Given the description of an element on the screen output the (x, y) to click on. 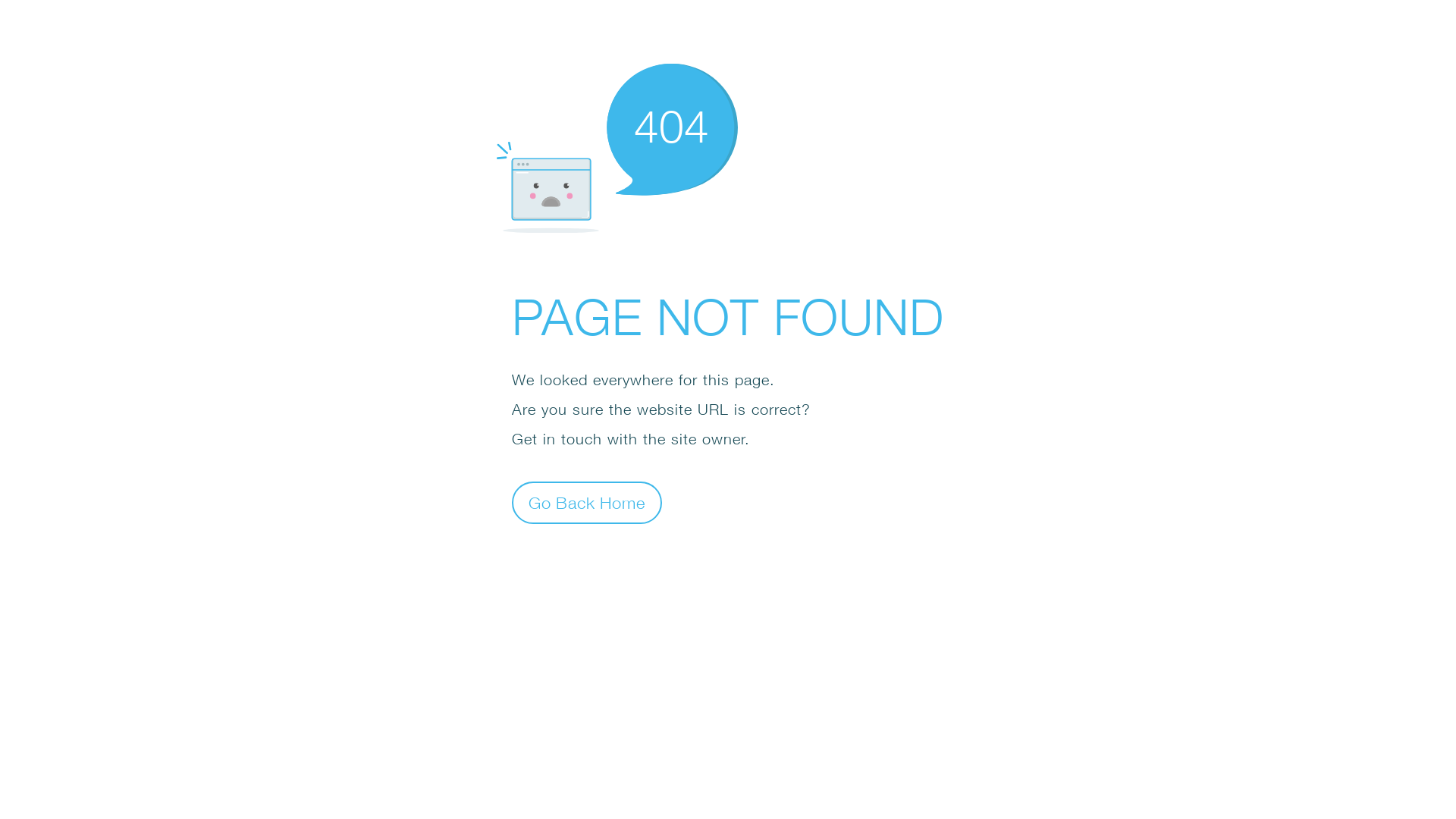
Go Back Home Element type: text (586, 502)
